Given the description of an element on the screen output the (x, y) to click on. 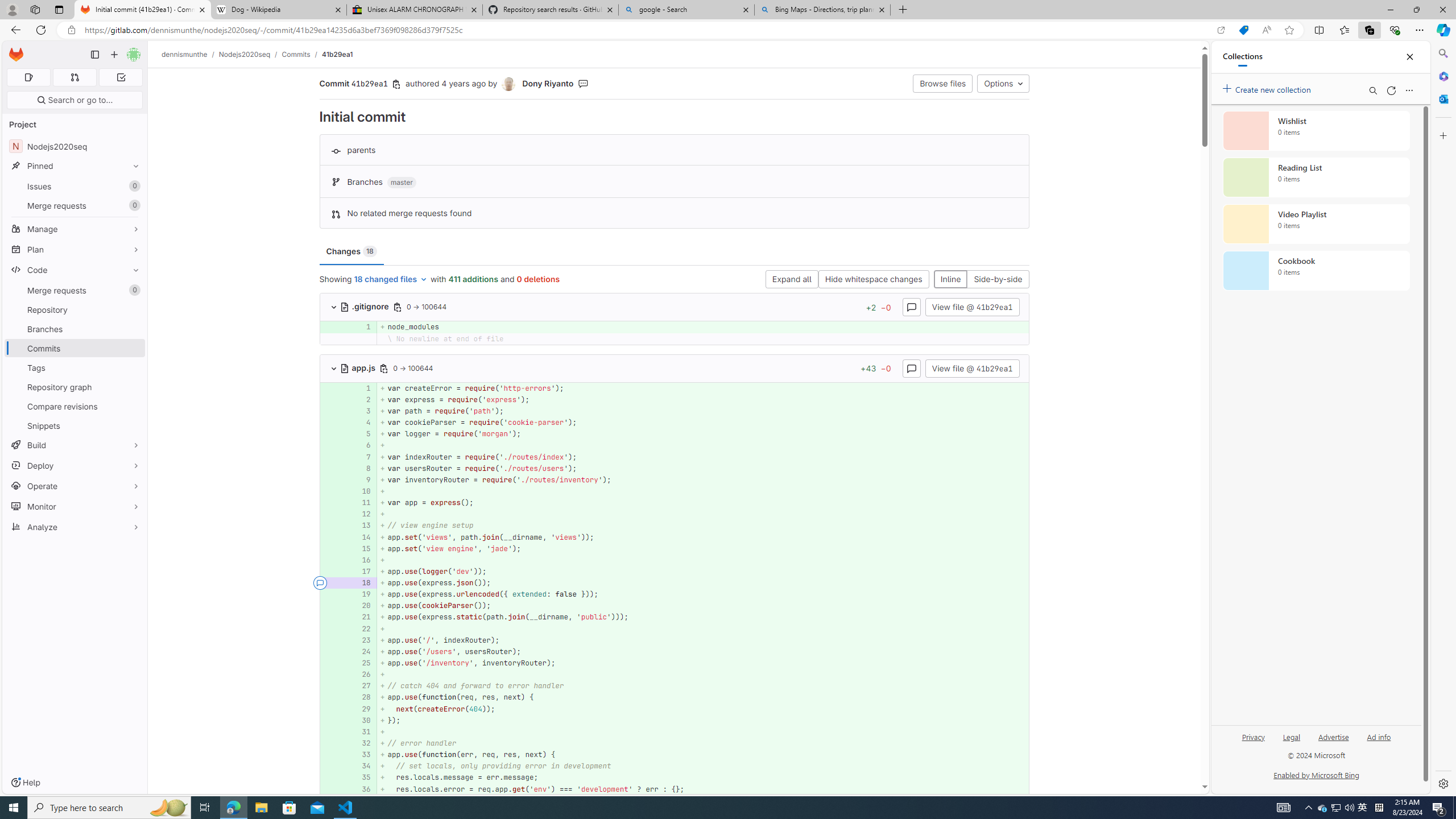
Dony Riyanto (547, 83)
Settings and more (Alt+F) (1419, 29)
23 (362, 639)
app.js  (358, 367)
Build (74, 444)
Microsoft 365 (1442, 76)
17 (362, 571)
Homepage (16, 54)
6 (360, 445)
Shopping in Microsoft Edge (1243, 29)
Browser essentials (1394, 29)
Dog - Wikipedia (277, 9)
